Given the description of an element on the screen output the (x, y) to click on. 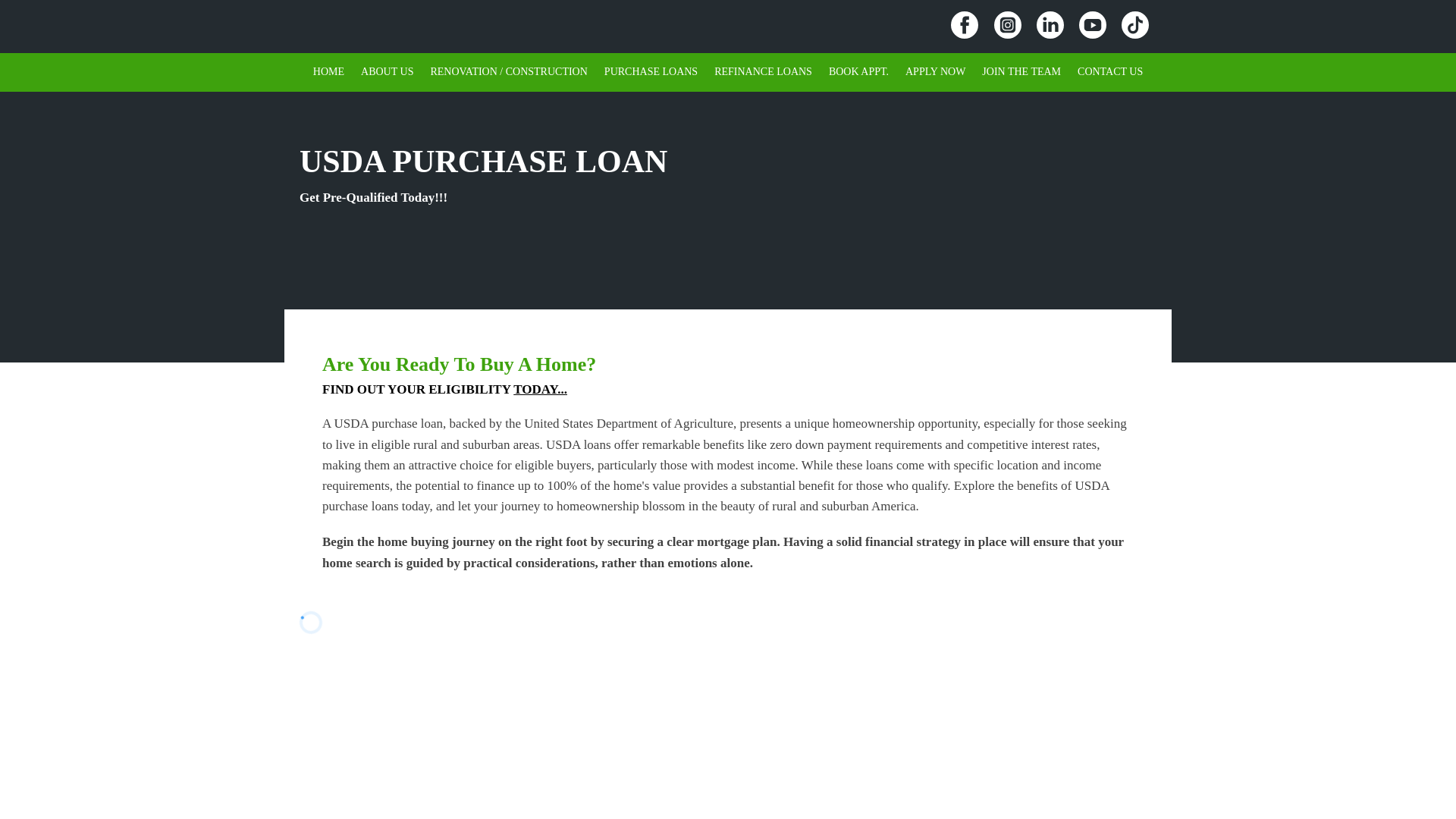
CONTACT US (1109, 72)
APPLY NOW (935, 72)
REFINANCE LOANS (763, 72)
PURCHASE LOANS (650, 72)
BOOK APPT. (858, 72)
JOIN THE TEAM (1021, 72)
HOME (328, 72)
ABOUT US (387, 72)
